Given the description of an element on the screen output the (x, y) to click on. 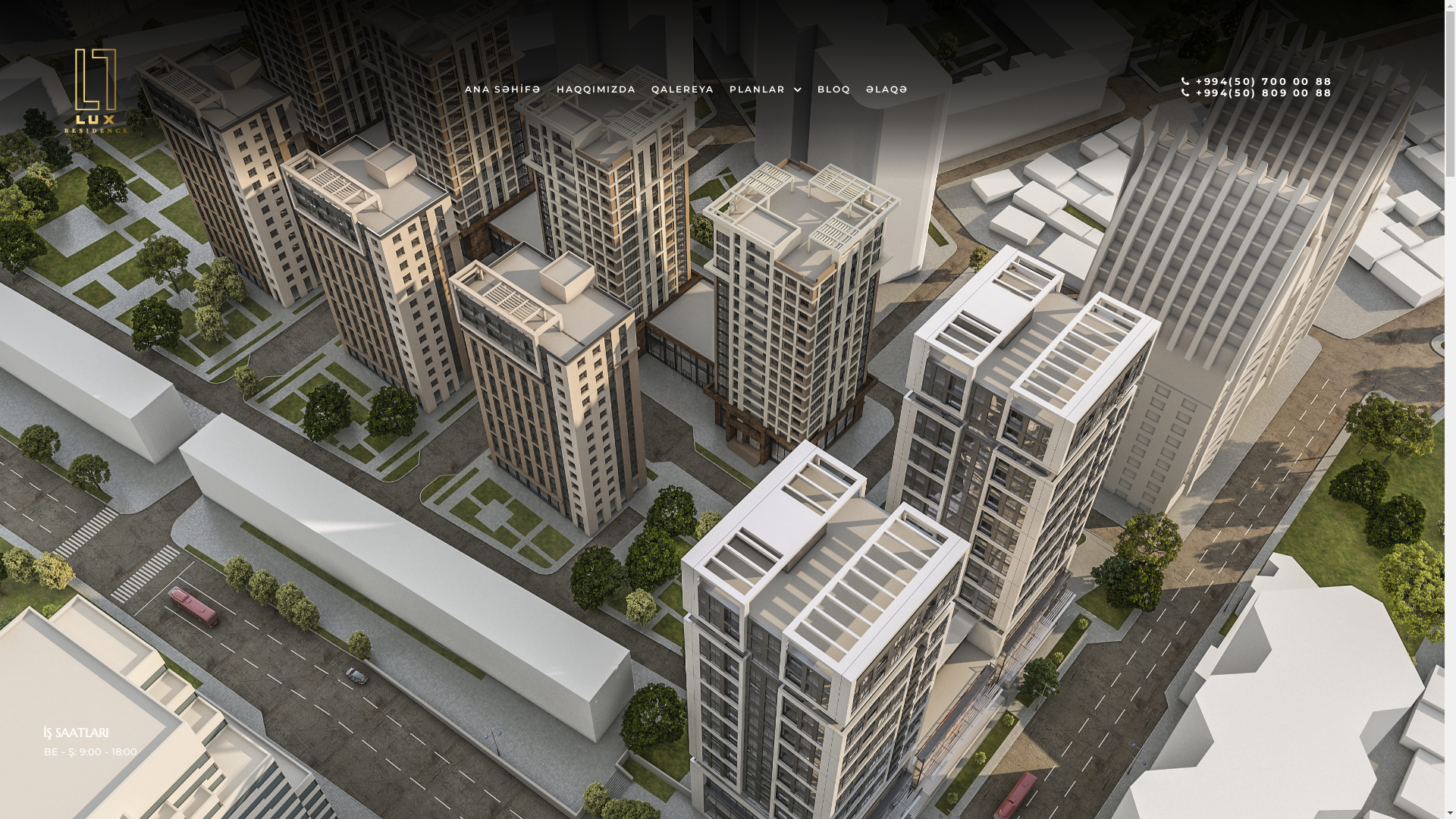
+994(50) 809 00 88 Element type: text (1257, 92)
HAQQIMIZDA Element type: text (596, 89)
QALEREYA Element type: text (682, 89)
BLOQ Element type: text (833, 89)
+994(50) 700 00 88 Element type: text (1257, 81)
PLANLAR Element type: text (765, 89)
